Given the description of an element on the screen output the (x, y) to click on. 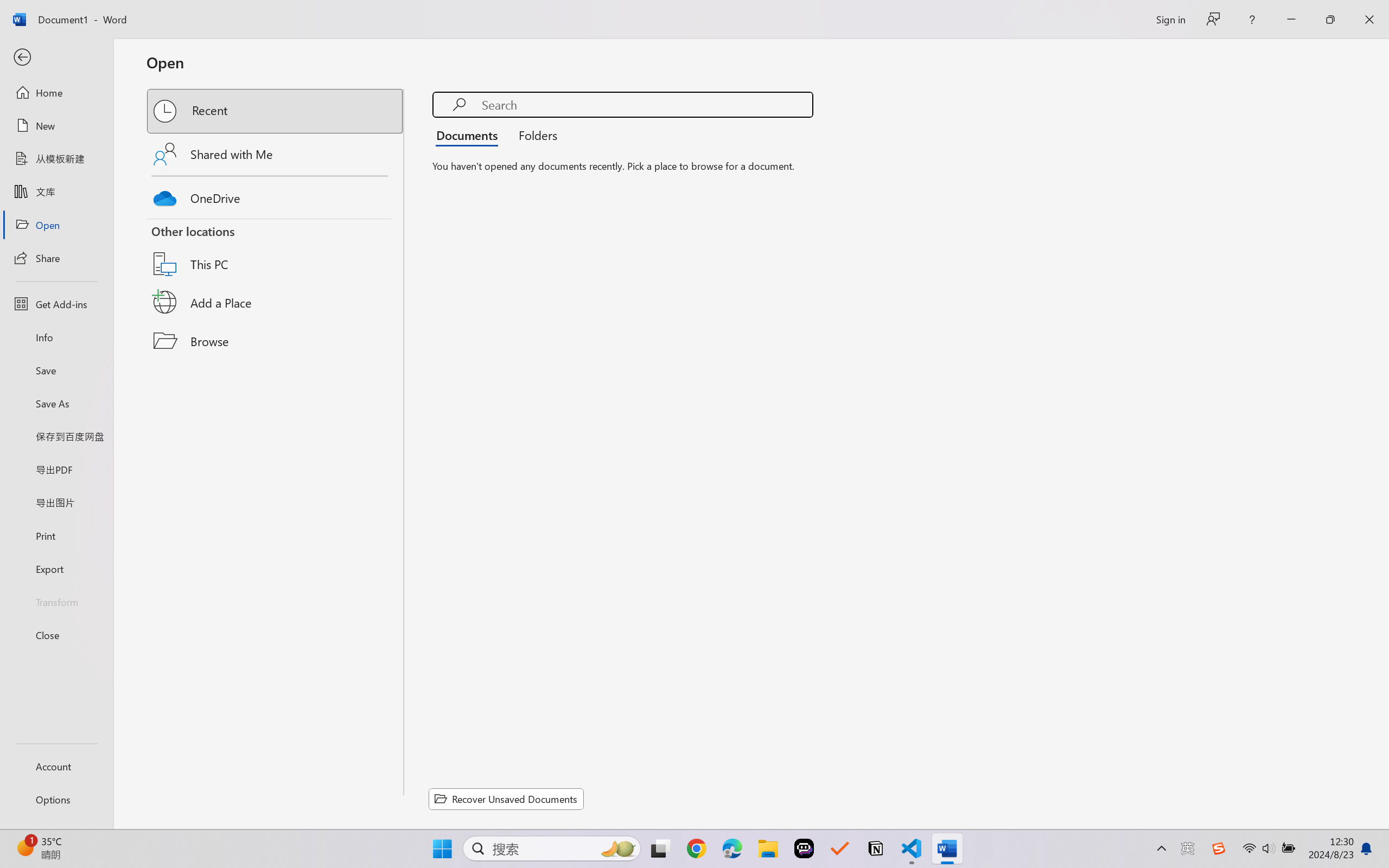
Save As (56, 403)
Add a Place (275, 302)
OneDrive (275, 195)
This PC (275, 249)
Print (56, 535)
Account (56, 765)
Options (56, 798)
Folders (534, 134)
